Given the description of an element on the screen output the (x, y) to click on. 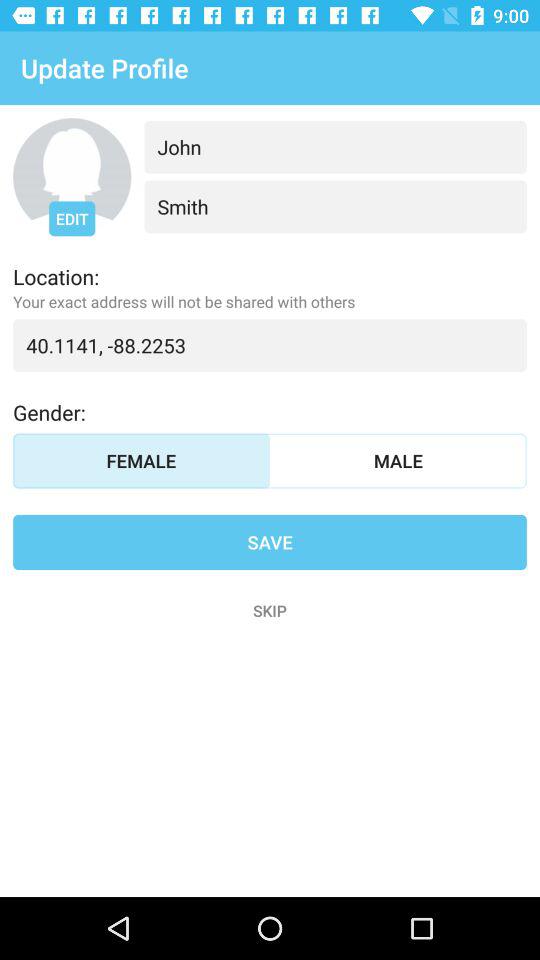
edit profile picture (72, 177)
